Given the description of an element on the screen output the (x, y) to click on. 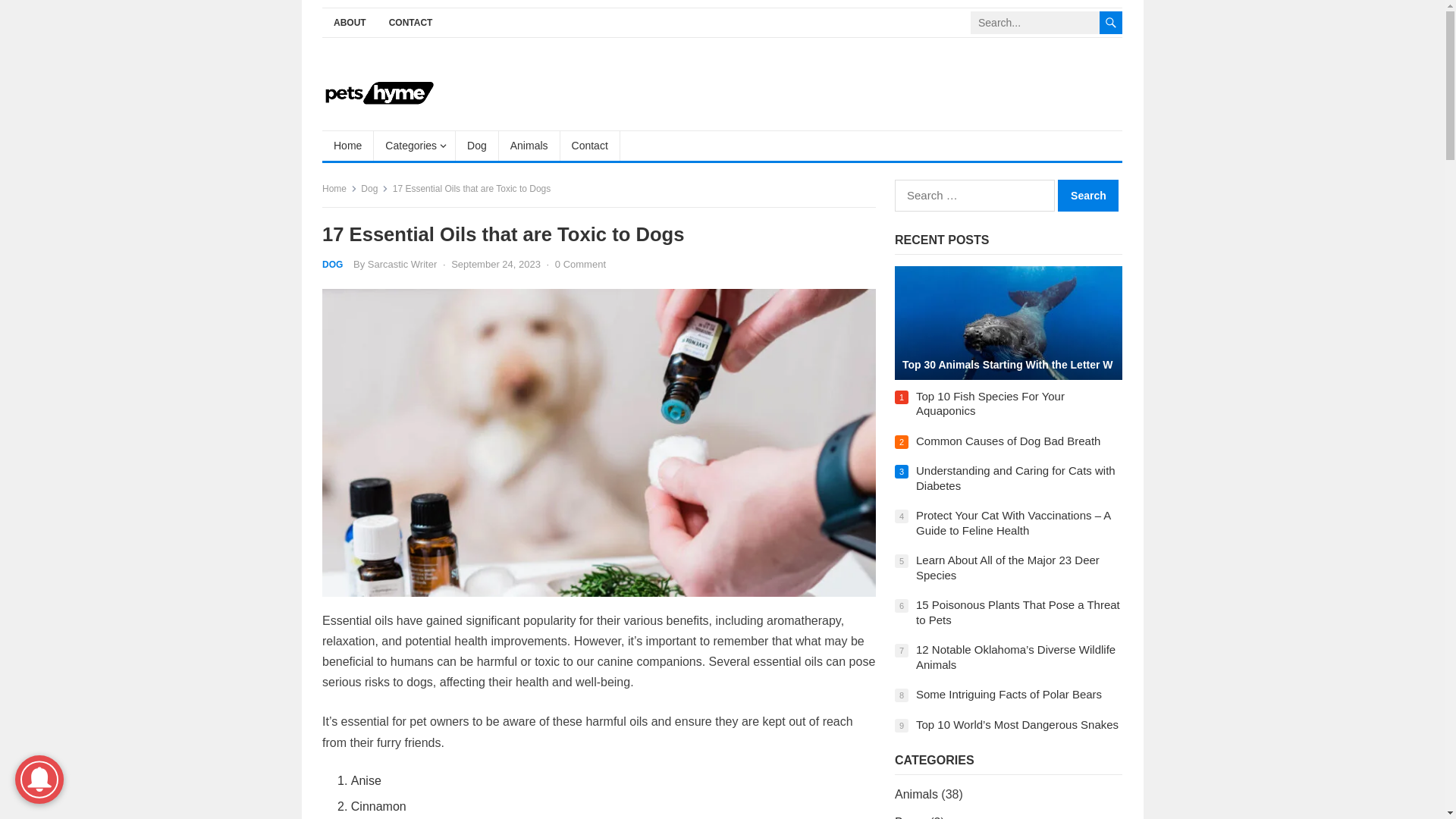
Search (1088, 195)
Categories (414, 145)
CONTACT (410, 22)
Contact (590, 145)
Posts by Sarcastic Writer (403, 264)
Animals (529, 145)
Dog (477, 145)
ABOUT (349, 22)
Home (347, 145)
Search (1088, 195)
